Given the description of an element on the screen output the (x, y) to click on. 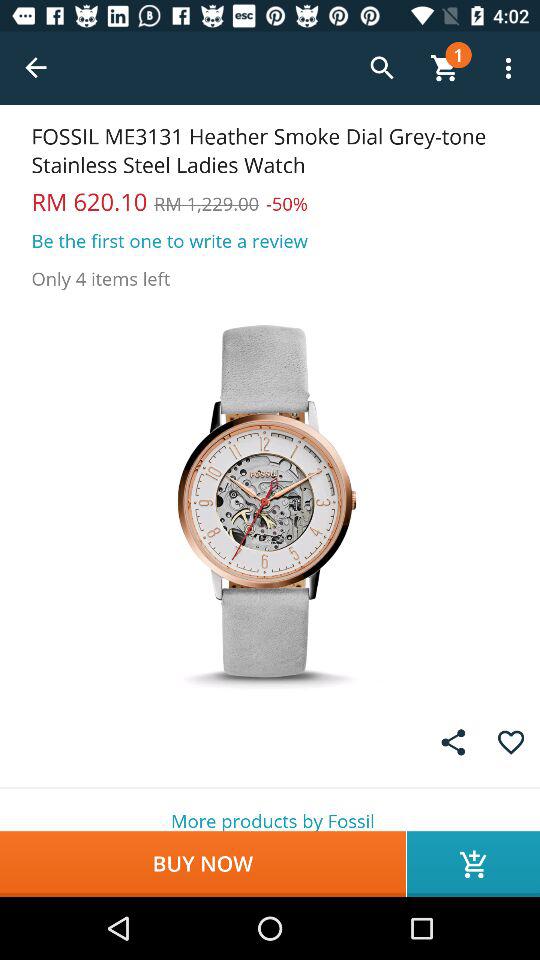
choose the buy now icon (202, 863)
